Given the description of an element on the screen output the (x, y) to click on. 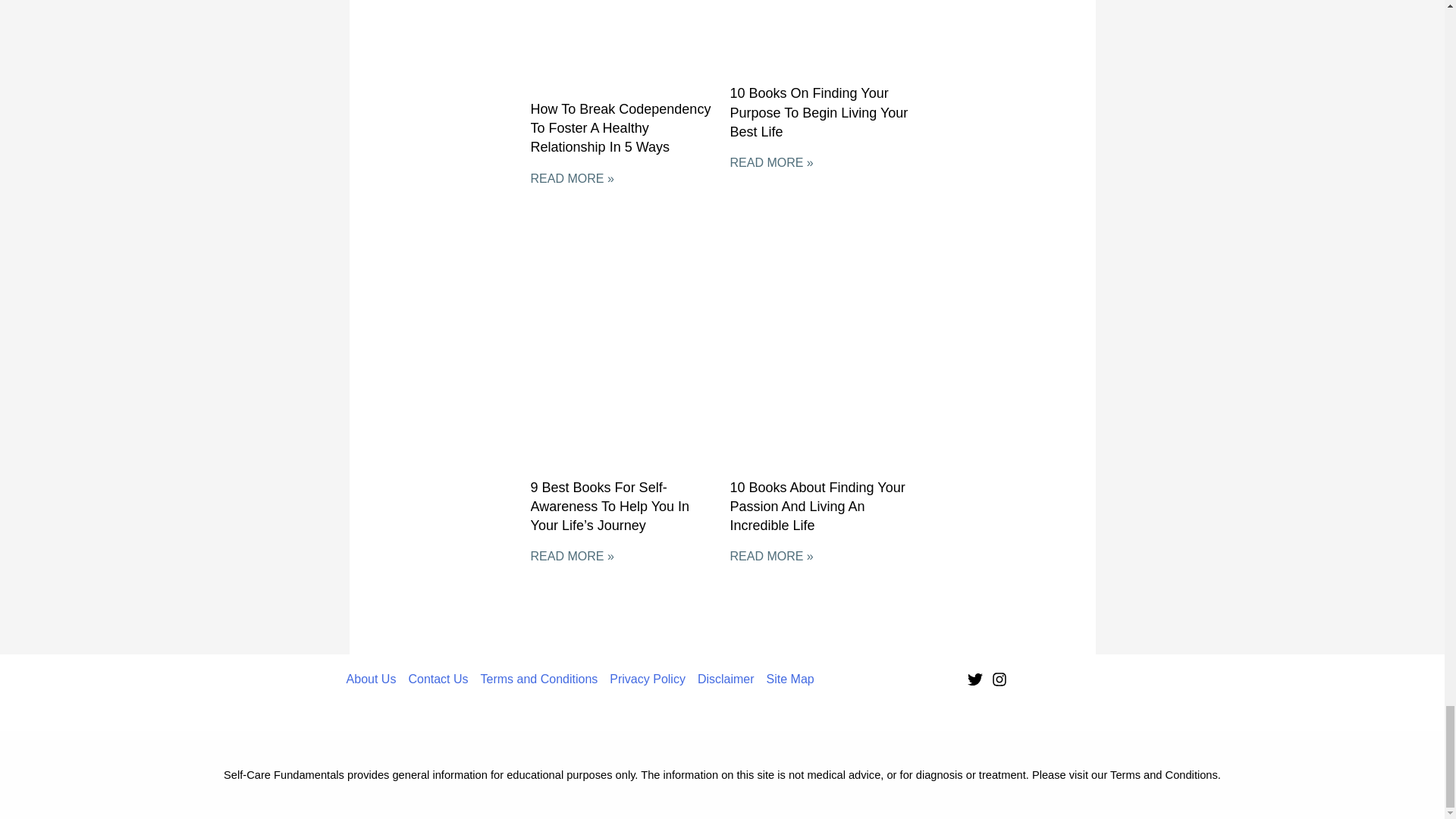
Contact Us (437, 678)
About Us (374, 678)
